Given the description of an element on the screen output the (x, y) to click on. 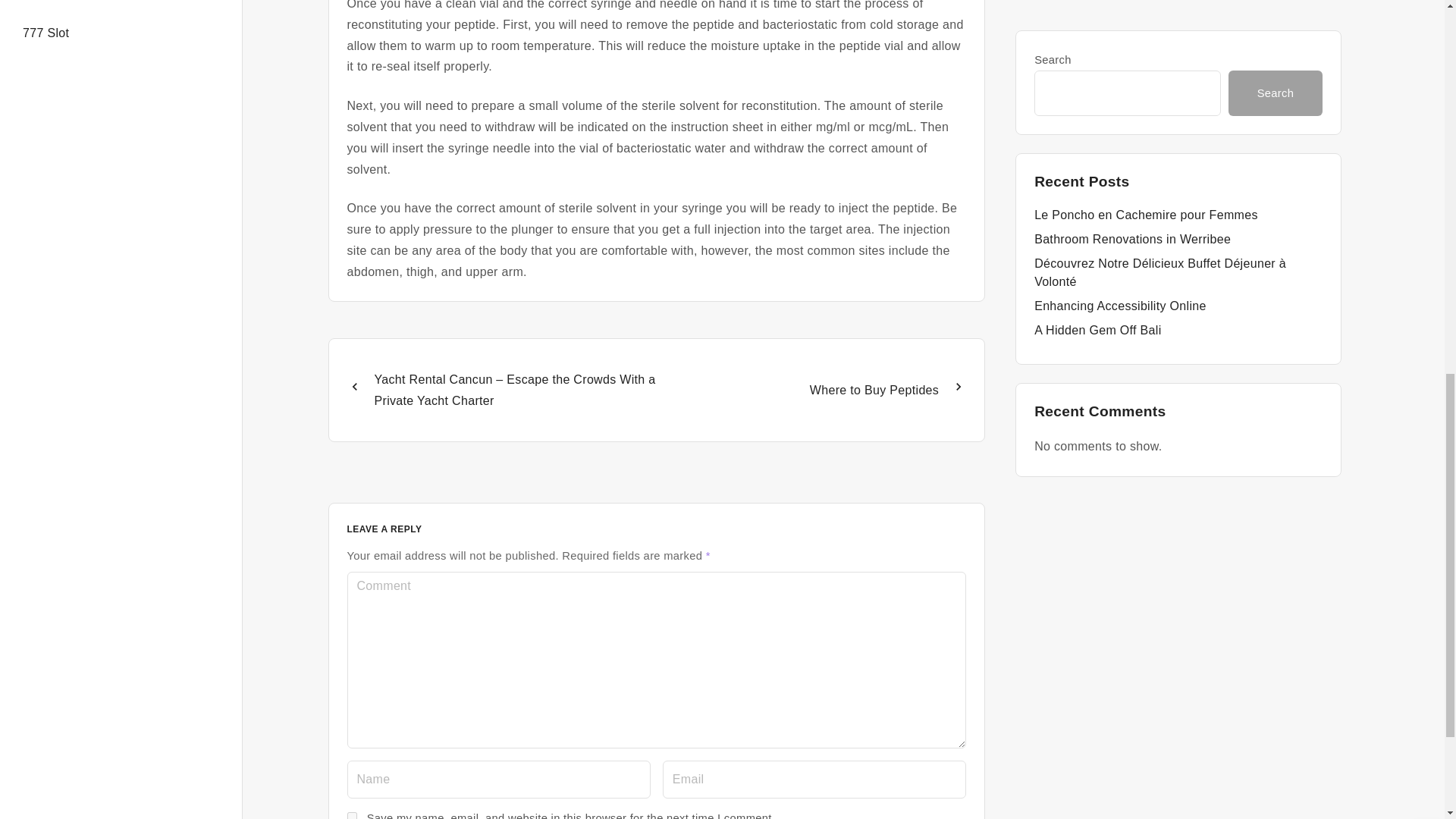
Where to Buy Peptides (811, 390)
yes (351, 815)
